Given the description of an element on the screen output the (x, y) to click on. 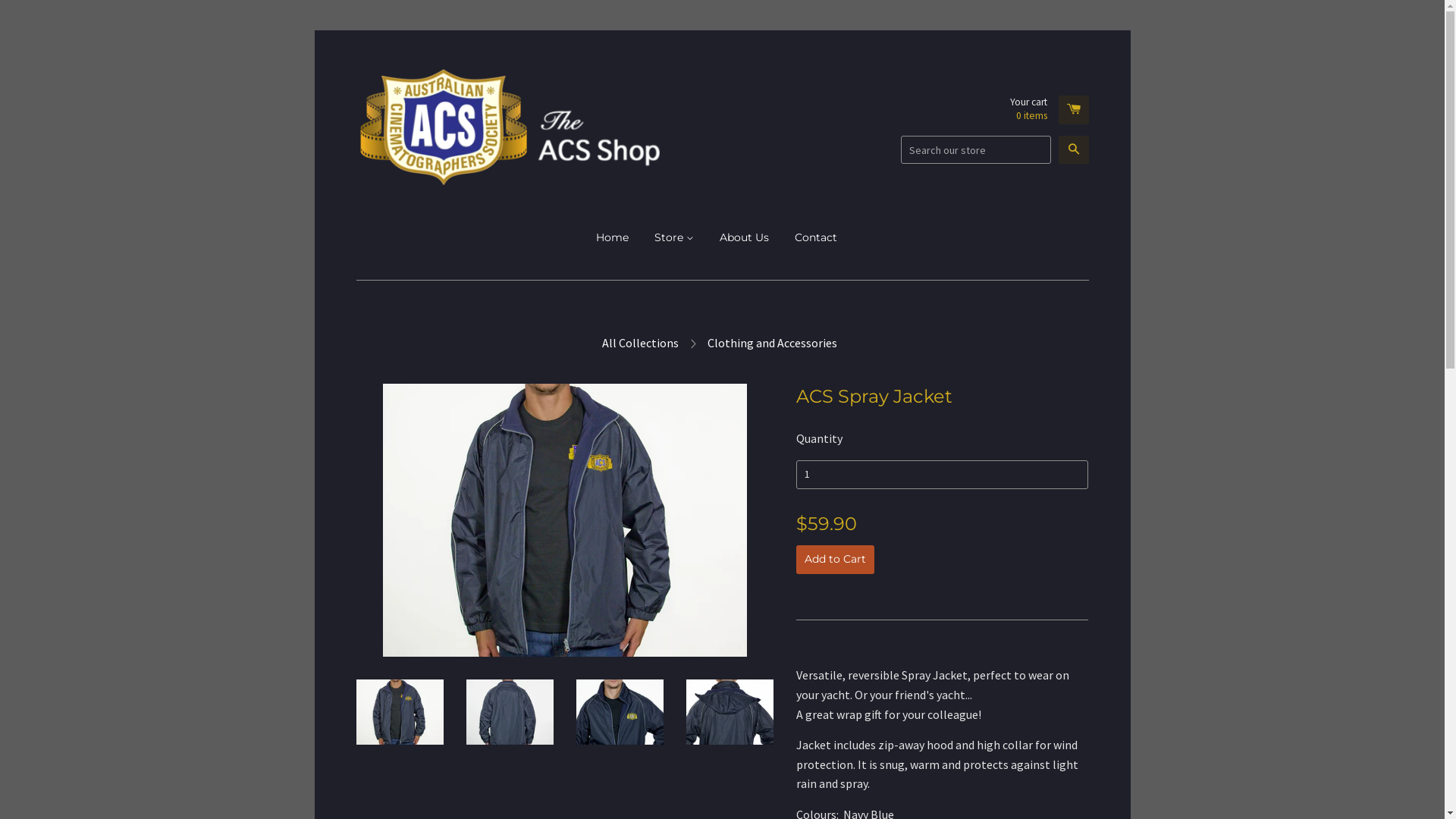
All Collections Element type: text (641, 343)
Home Element type: text (618, 237)
About Us Element type: text (744, 237)
Add to Cart Element type: text (835, 559)
Clothing and Accessories Element type: text (772, 343)
Contact Element type: text (815, 237)
Store Element type: text (674, 237)
Search Element type: text (1073, 149)
Your cart
0 items Element type: text (1049, 109)
